Given the description of an element on the screen output the (x, y) to click on. 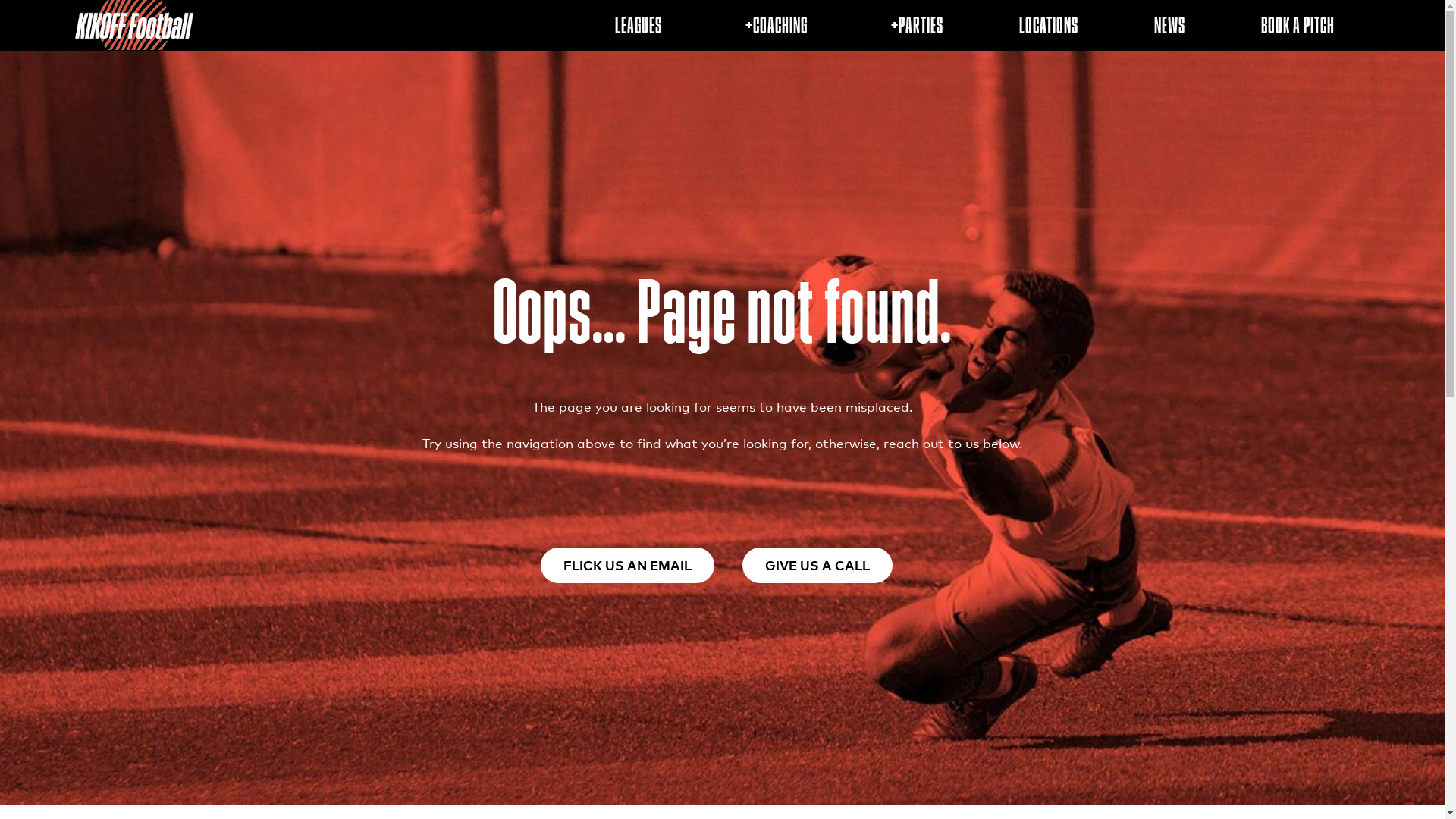
NEWS Element type: text (1169, 25)
LEAGUES Element type: text (638, 25)
LOCATIONS Element type: text (1048, 25)
FLICK US AN EMAIL Element type: text (627, 565)
+
COACHING Element type: text (772, 25)
BOOK A PITCH Element type: text (1297, 25)
GIVE US A CALL Element type: text (816, 565)
+
PARTIES Element type: text (913, 25)
